Given the description of an element on the screen output the (x, y) to click on. 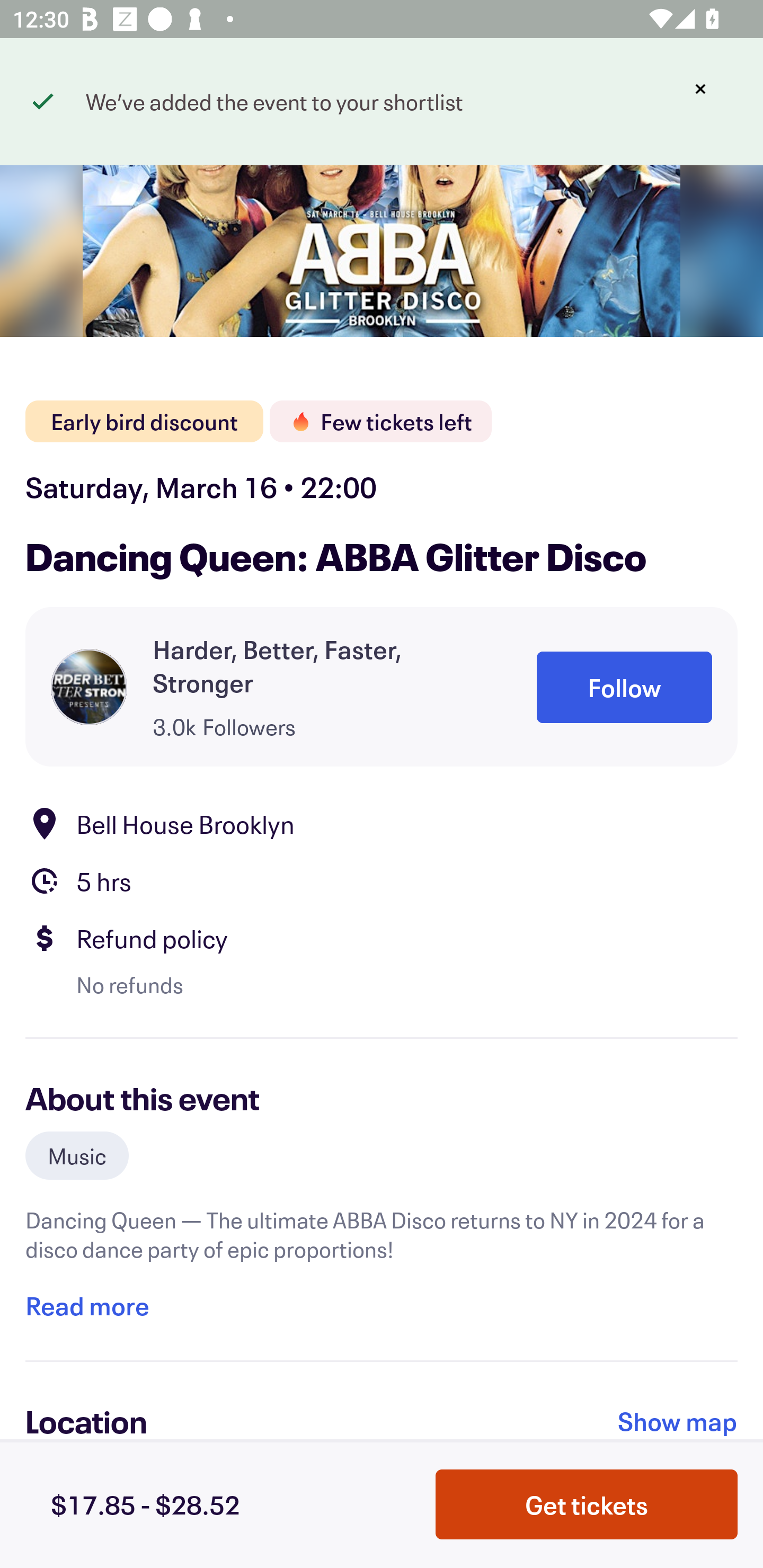
Dismiss notification (700, 89)
Back (57, 94)
Early bird discount (144, 421)
Harder, Better, Faster, Stronger (319, 665)
Organizer profile picture (89, 686)
Follow (623, 687)
Location Bell House Brooklyn (381, 823)
Read more (87, 1304)
Show map (677, 1420)
Get tickets (586, 1504)
